Given the description of an element on the screen output the (x, y) to click on. 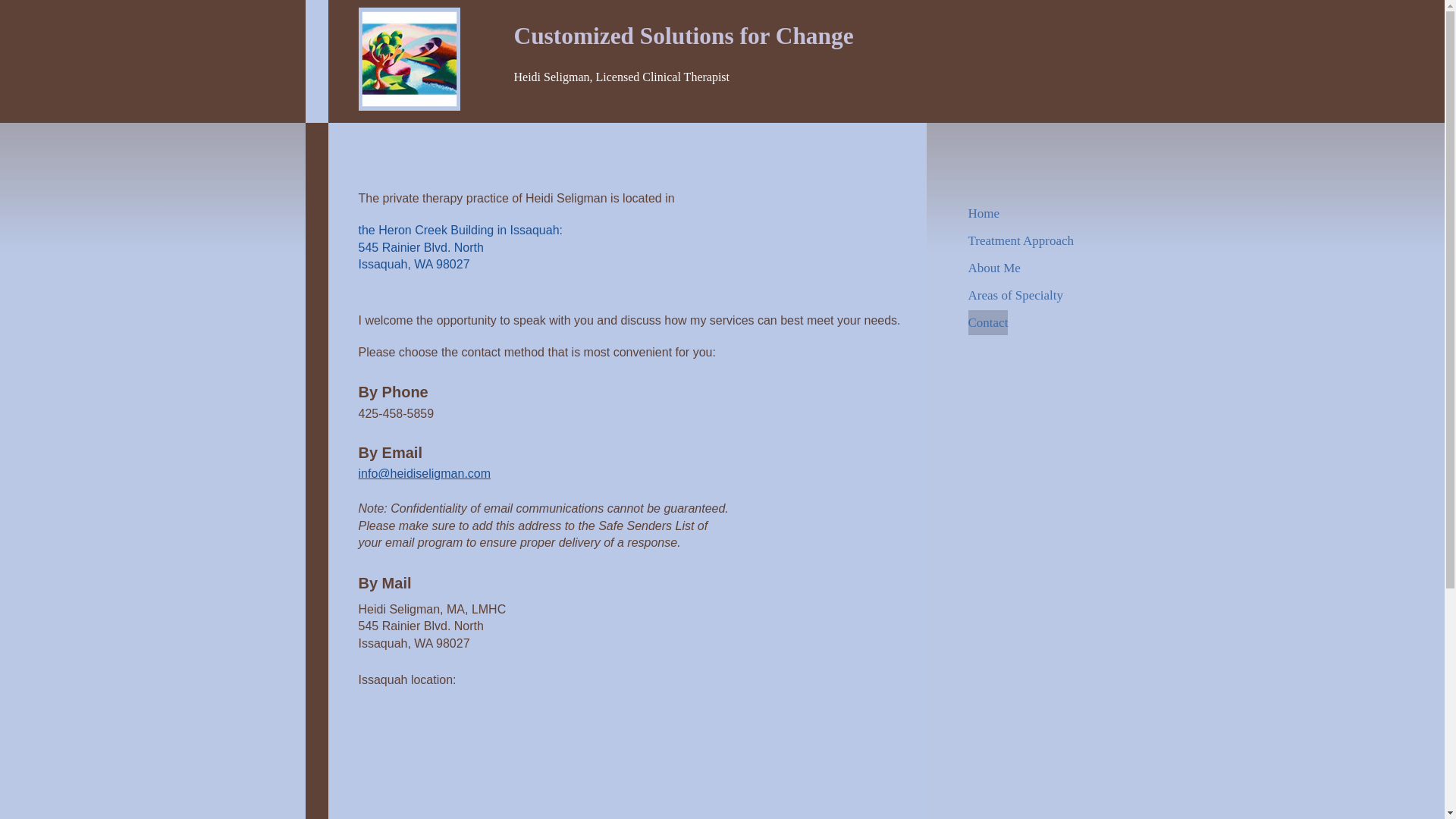
Google Maps (483, 763)
Home (983, 213)
Areas of Specialty (1015, 294)
Contact (987, 322)
Treatment Approach (1021, 240)
About Me (994, 267)
